Given the description of an element on the screen output the (x, y) to click on. 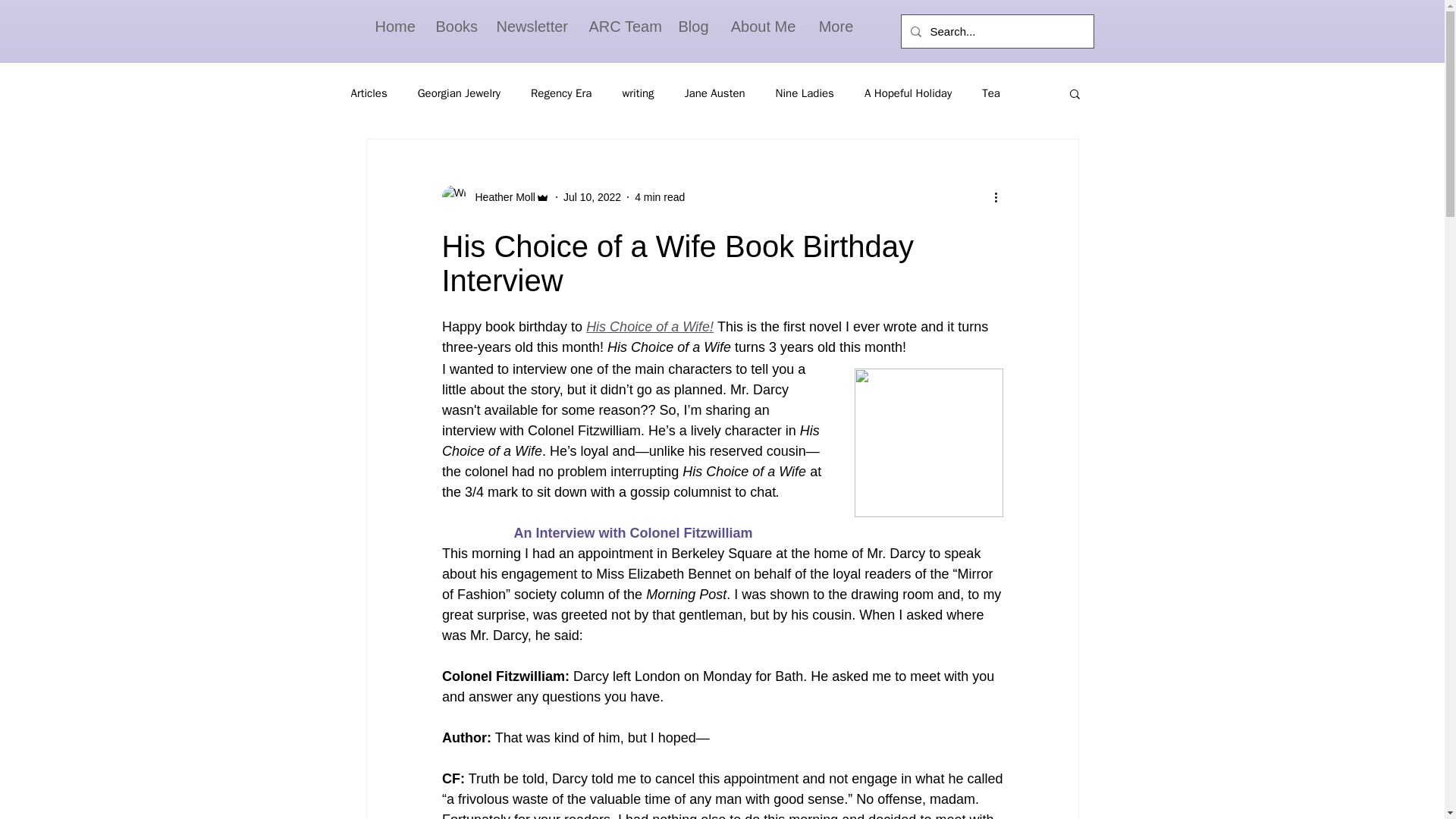
Articles (368, 93)
His Choice of a Wife! (649, 326)
Books (454, 26)
Georgian Jewelry (458, 93)
Jul 10, 2022 (592, 196)
About Me (762, 26)
A Hopeful Holiday (908, 93)
4 min read (659, 196)
Home (394, 26)
Heather Moll (499, 197)
Newsletter (531, 26)
ARC Team (622, 26)
Tea (990, 93)
Regency Era (561, 93)
Nine Ladies (805, 93)
